Given the description of an element on the screen output the (x, y) to click on. 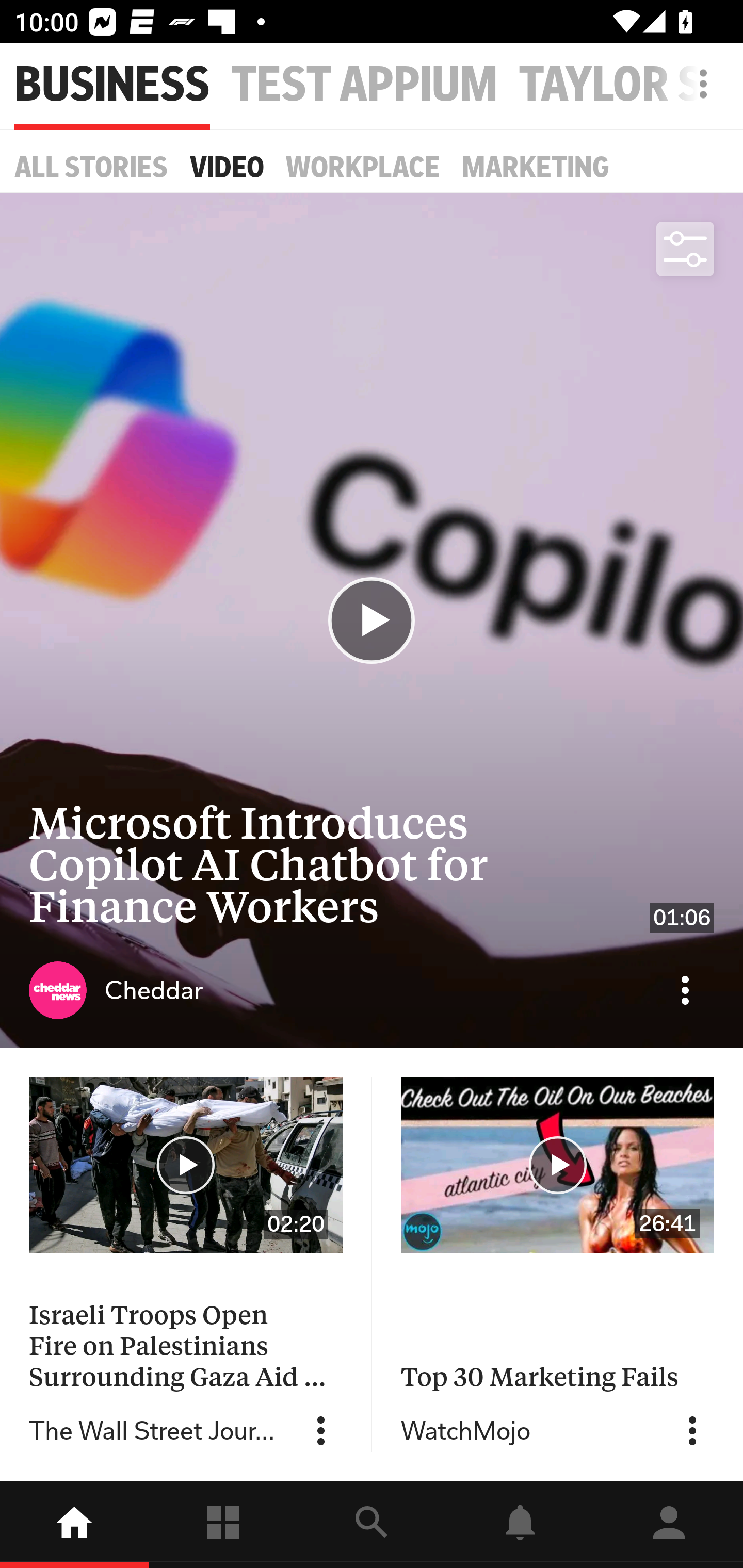
BUSINESS (112, 84)
TEST APPIUM (364, 84)
TAYLOR SWIFT  (631, 84)
Edit Home (697, 83)
ALL STORIES (90, 166)
VIDEO (227, 166)
WORKPLACE (362, 166)
MARKETING (535, 166)
Options (685, 989)
26:41 Top 30 Marketing Fails WatchMojo Options (557, 1264)
Options (320, 1430)
Options (692, 1430)
home (74, 1524)
Following (222, 1524)
explore (371, 1524)
Notifications (519, 1524)
Profile (668, 1524)
